Given the description of an element on the screen output the (x, y) to click on. 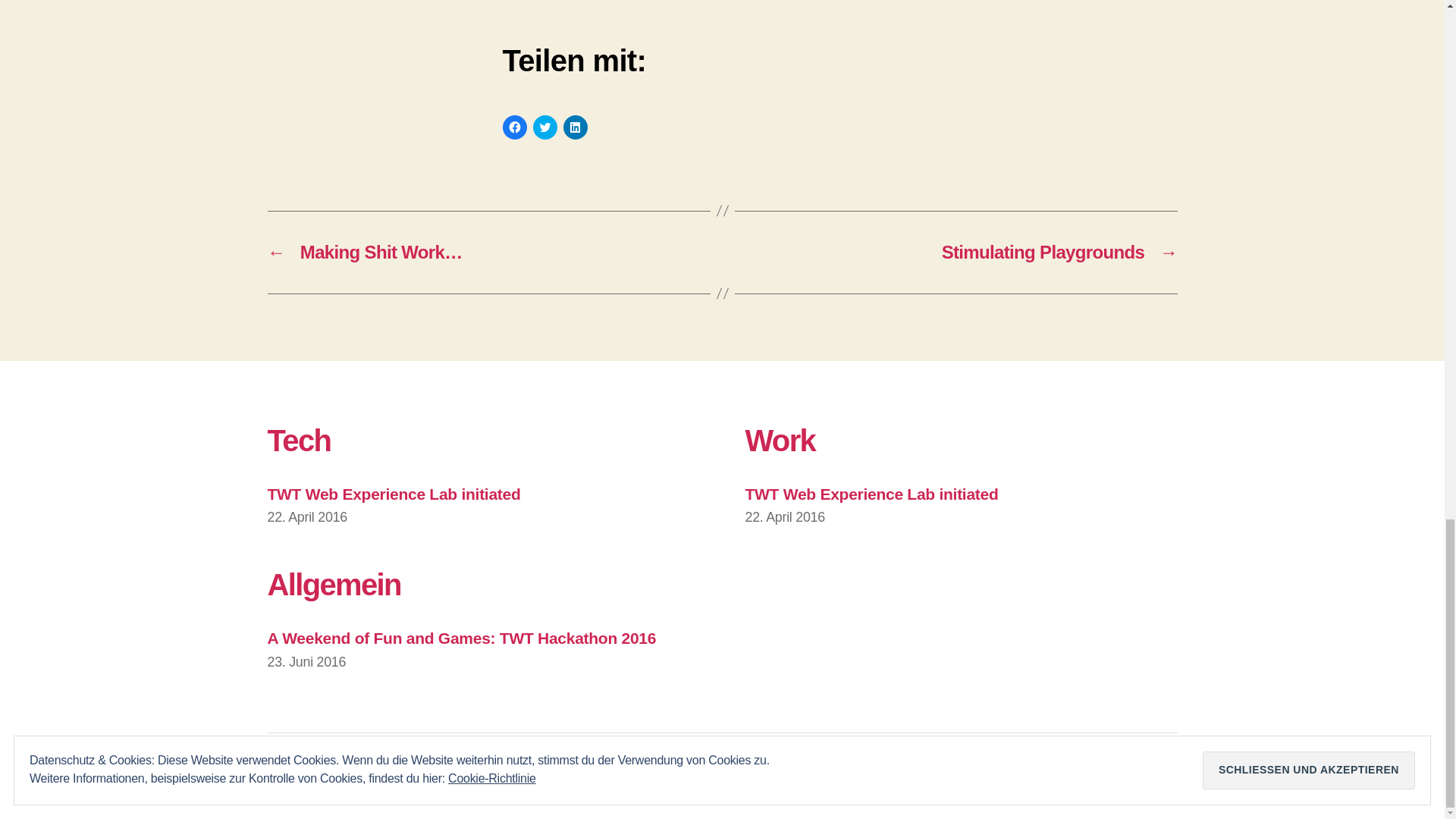
Allgemein (333, 584)
Klick, um auf LinkedIn zu teilen (574, 127)
Klick, um auf Facebook zu teilen (513, 127)
A Weekend of Fun and Games: TWT Hackathon 2016 (461, 638)
Tech (298, 440)
TWT Web Experience Lab initiated (392, 493)
